Given the description of an element on the screen output the (x, y) to click on. 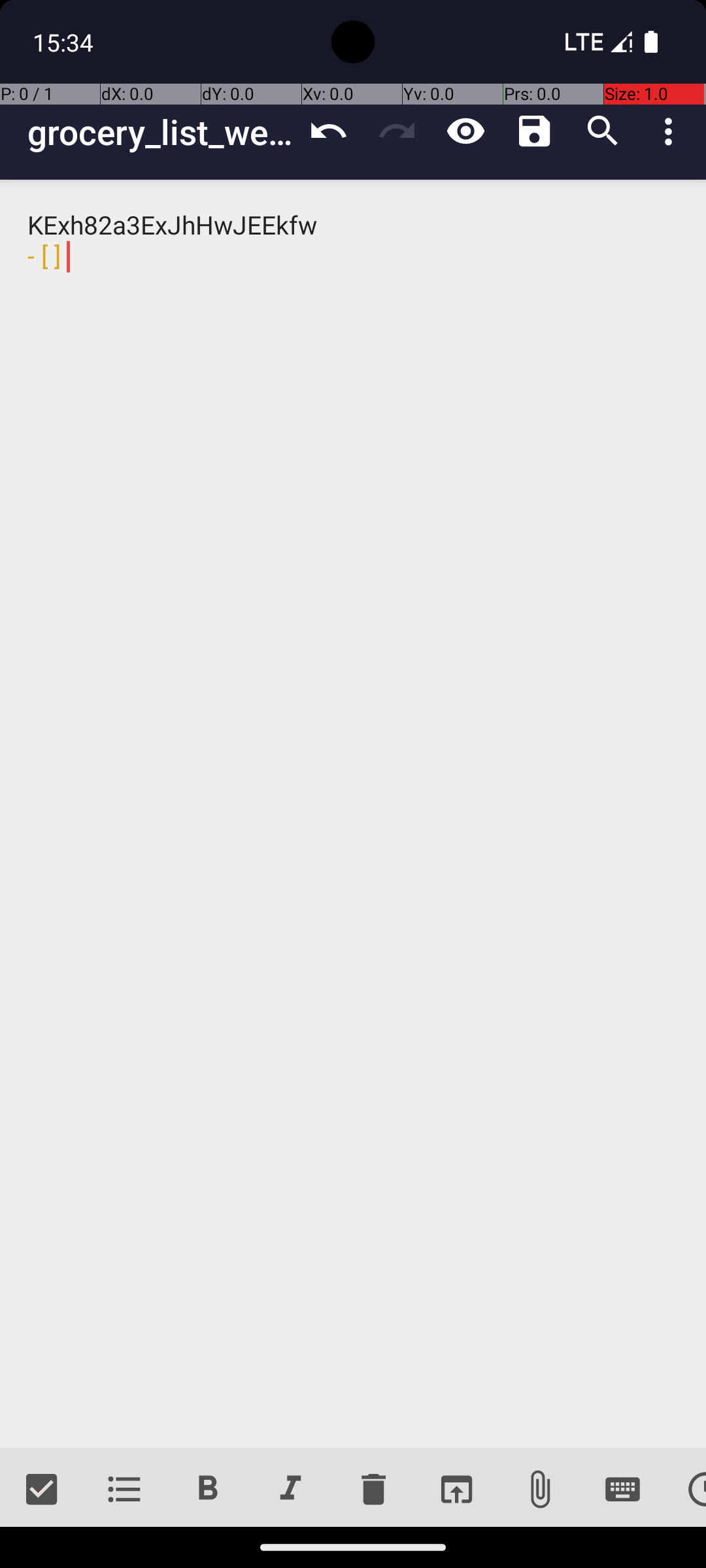
grocery_list_weekly_XyAc Element type: android.widget.TextView (160, 131)
Undo Element type: android.widget.TextView (328, 131)
Redo Element type: android.widget.TextView (396, 131)
View mode Element type: android.widget.TextView (465, 131)
KExh82a3ExJhHwJEEkfw
- [ ]  Element type: android.widget.EditText (353, 813)
Check list Element type: android.widget.ImageView (41, 1488)
Unordered list Element type: android.widget.ImageView (124, 1488)
Bold Element type: android.widget.ImageView (207, 1488)
Italic Element type: android.widget.ImageView (290, 1488)
Delete lines Element type: android.widget.ImageView (373, 1488)
Open link Element type: android.widget.ImageView (456, 1488)
Attach Element type: android.widget.ImageView (539, 1488)
Special Key Element type: android.widget.ImageView (622, 1488)
Date and time Element type: android.widget.ImageView (685, 1488)
